Given the description of an element on the screen output the (x, y) to click on. 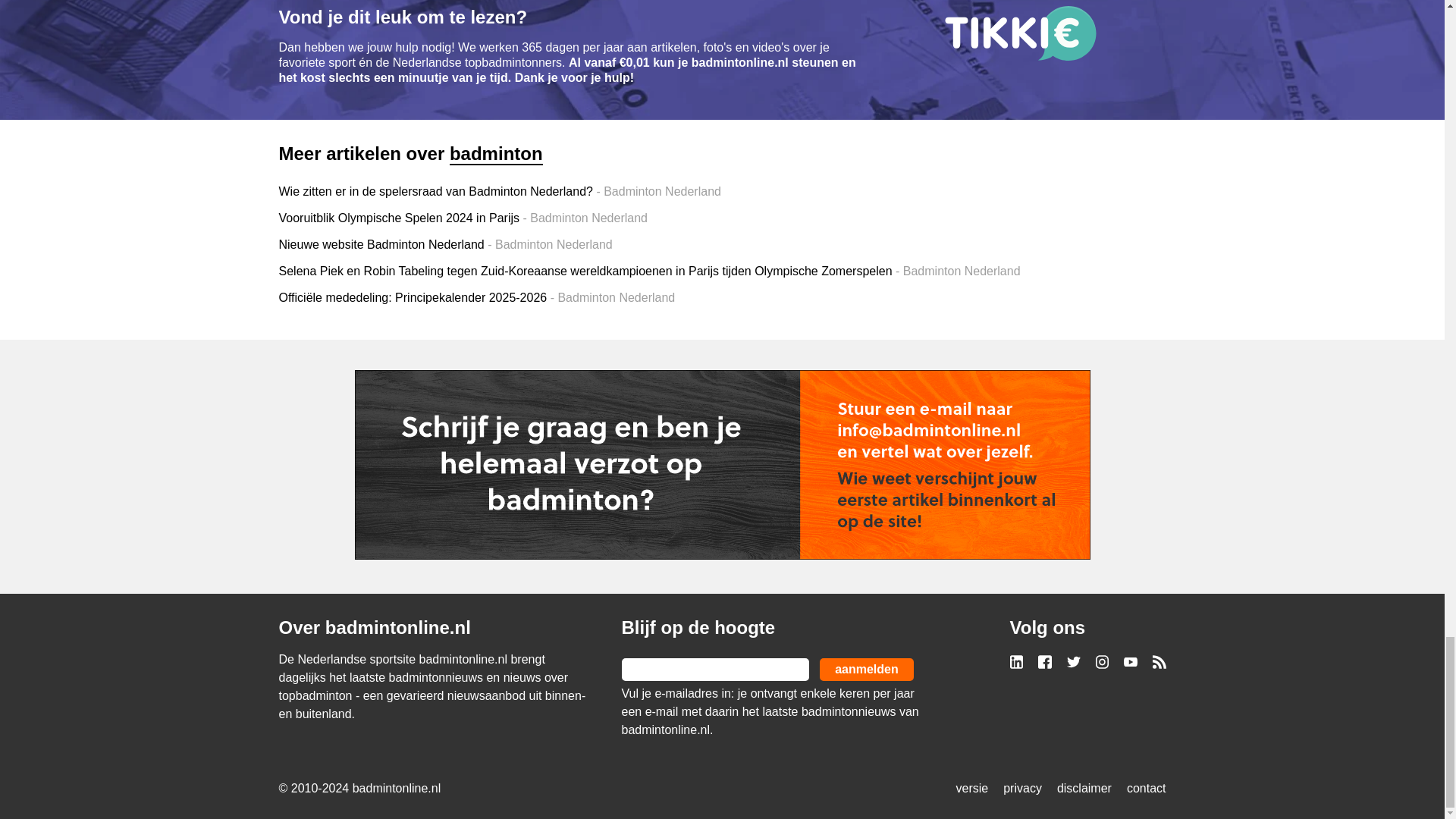
aanmelden (866, 669)
